Given the description of an element on the screen output the (x, y) to click on. 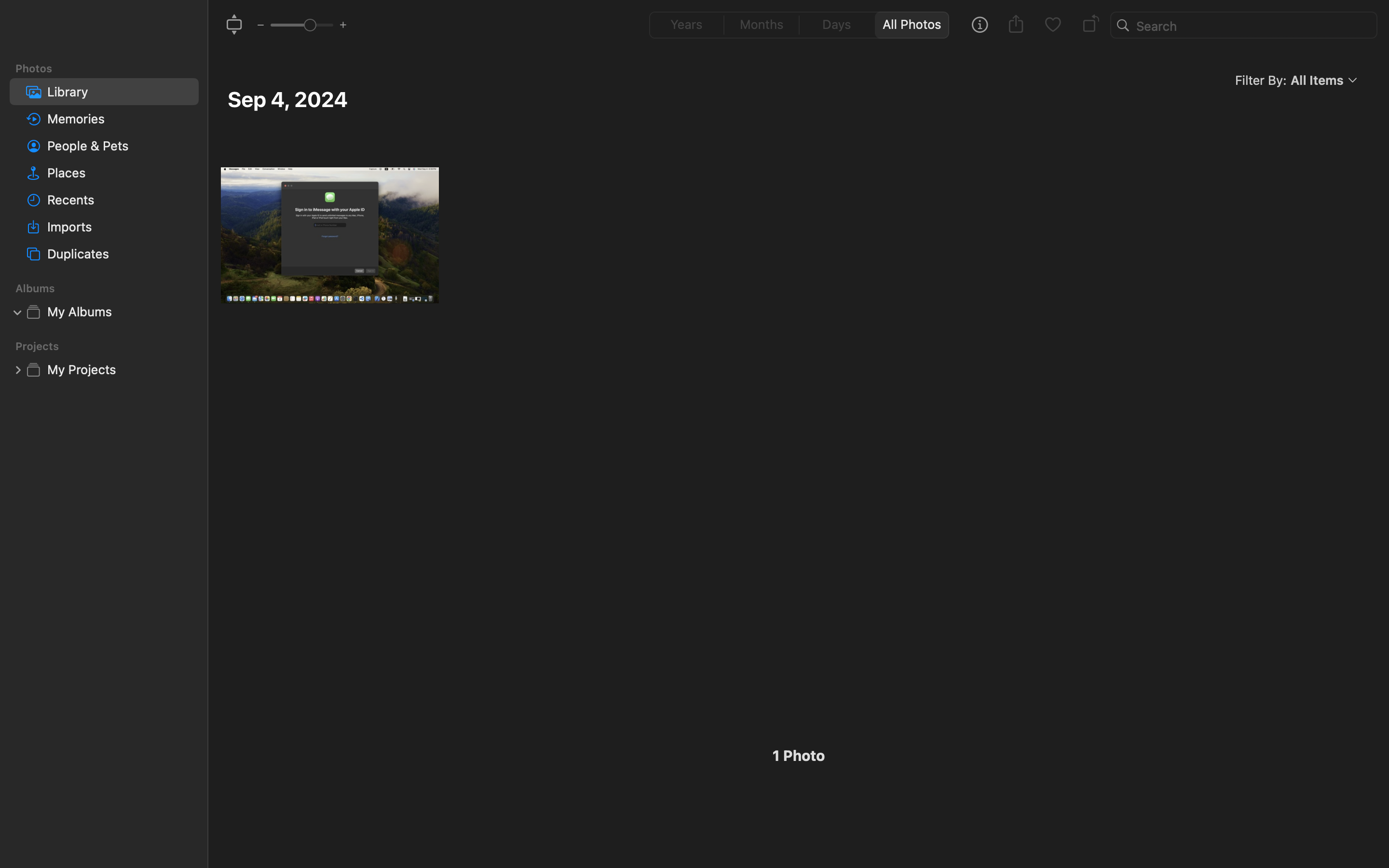
Photos Element type: AXStaticText (109, 68)
Memories Element type: AXStaticText (118, 118)
0 Element type: AXRadioButton (683, 24)
Places Element type: AXStaticText (118, 172)
Projects Element type: AXStaticText (109, 345)
